Given the description of an element on the screen output the (x, y) to click on. 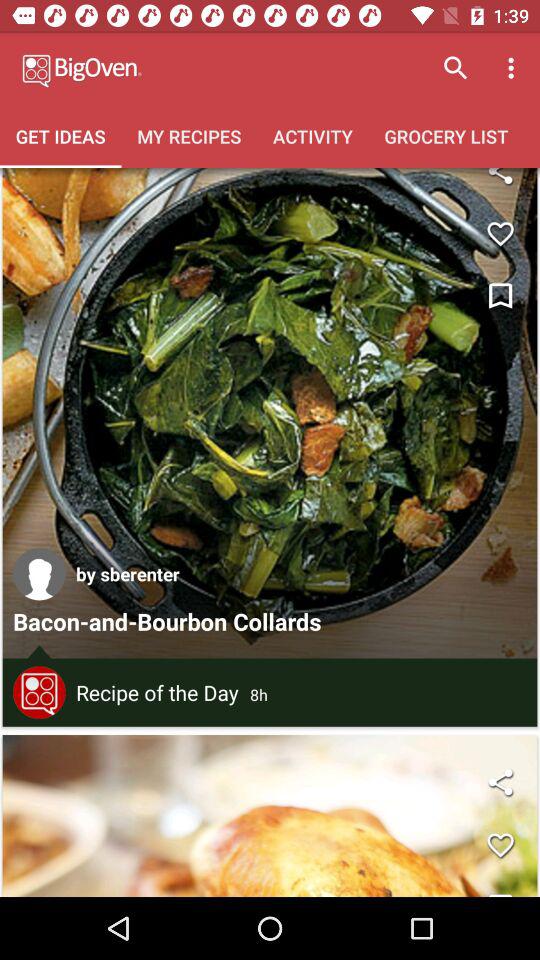
make favorite (500, 845)
